Given the description of an element on the screen output the (x, y) to click on. 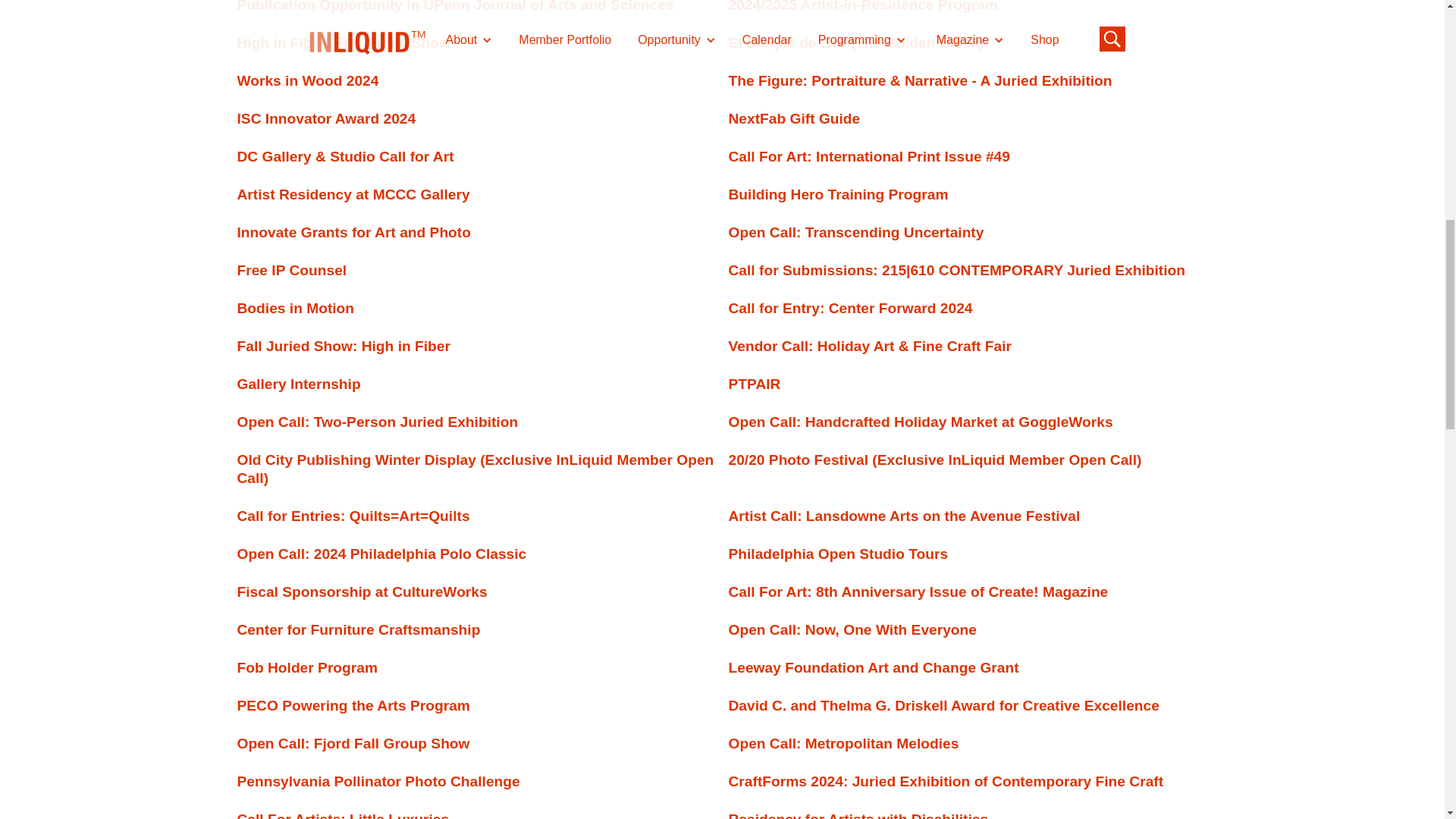
ISC Innovator Award 2024 (324, 122)
Works in Wood 2024 (306, 84)
NextFab Gift Guide (794, 122)
High in Fiber: Fall Juried Show (342, 46)
